Given the description of an element on the screen output the (x, y) to click on. 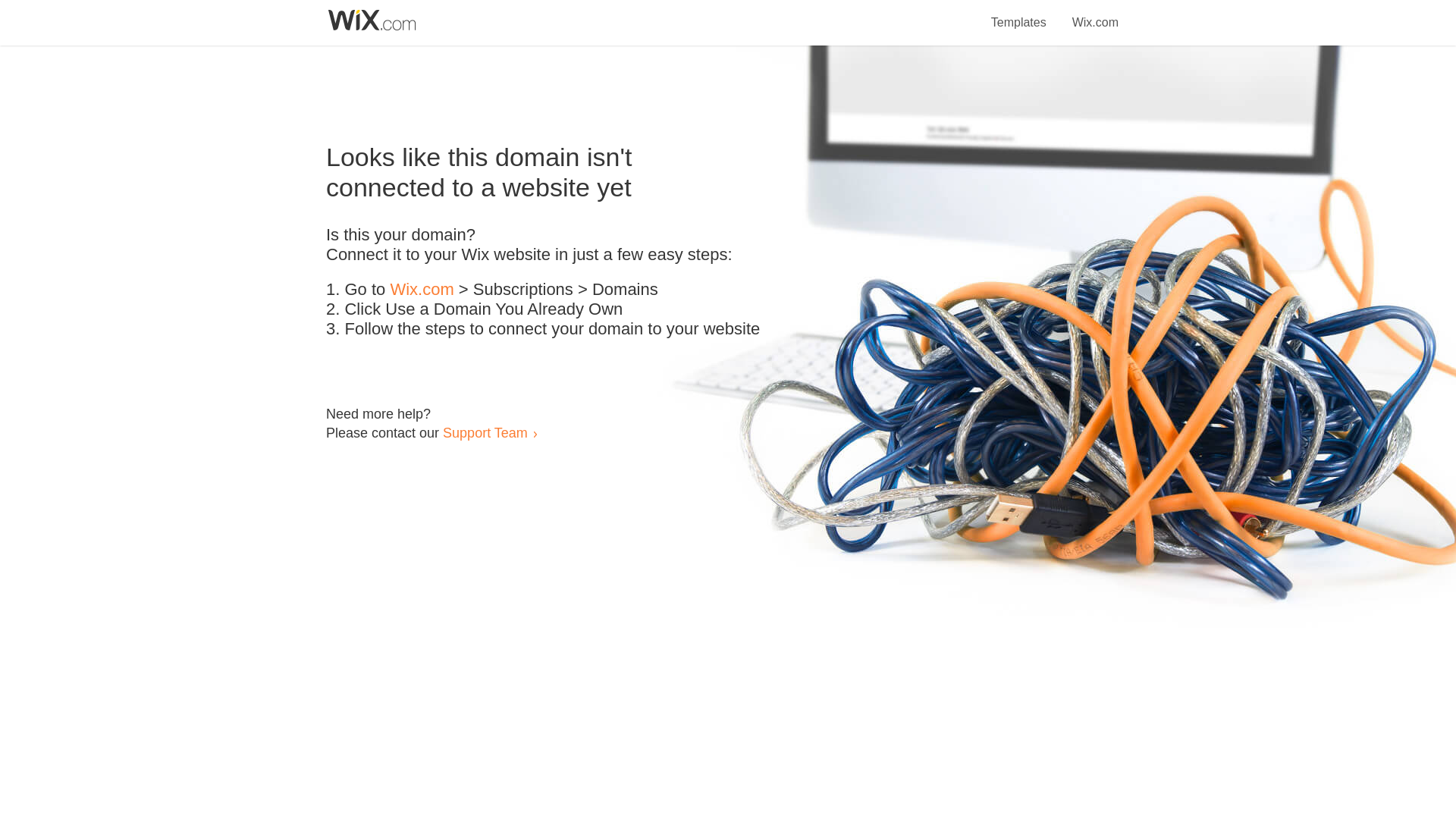
Templates (1018, 14)
Support Team (484, 432)
Wix.com (421, 289)
Wix.com (1095, 14)
